Given the description of an element on the screen output the (x, y) to click on. 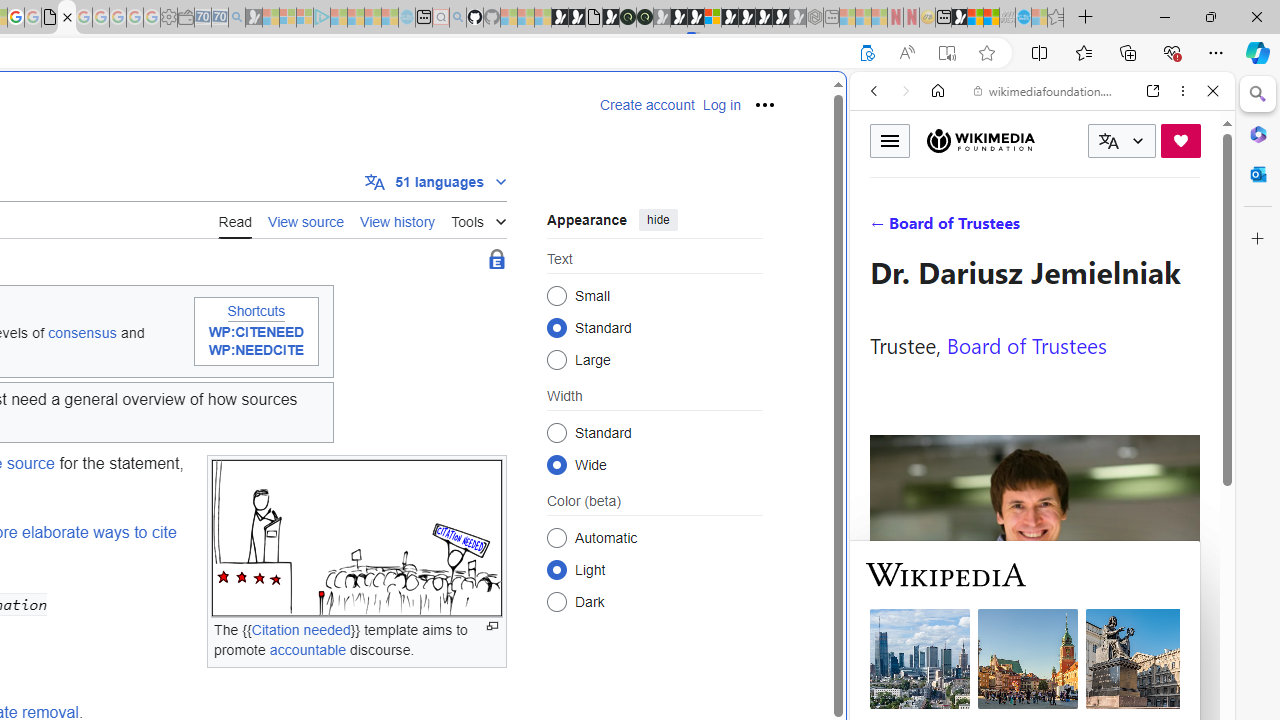
Shortcuts (255, 310)
